Given the description of an element on the screen output the (x, y) to click on. 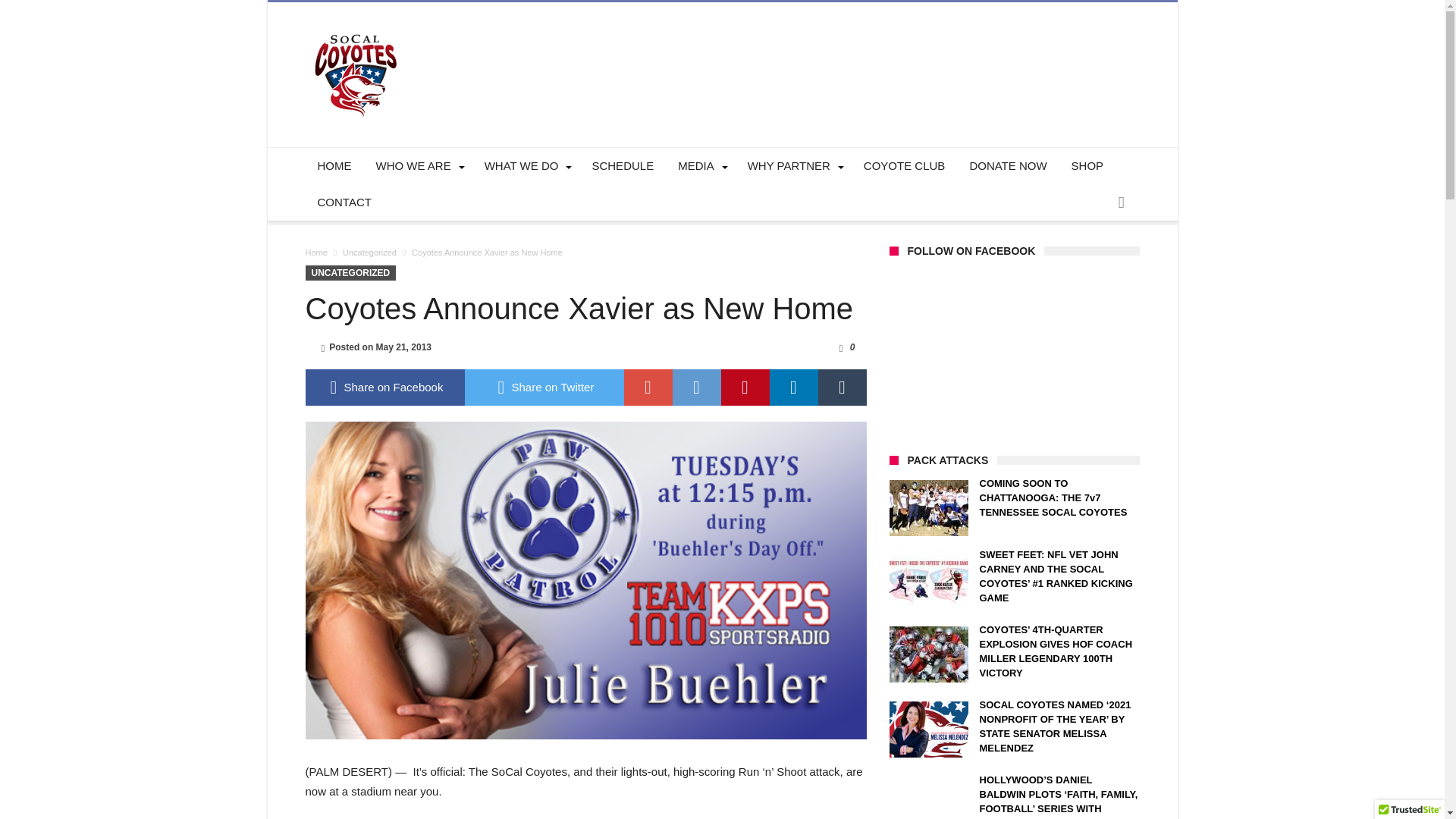
I like this article (840, 347)
MEDIA (700, 166)
WHAT WE DO (525, 166)
HOME (333, 166)
The SoCal Coyotes (355, 24)
WHO WE ARE (417, 166)
twitter (543, 387)
SCHEDULE (622, 166)
facebook (384, 387)
